Given the description of an element on the screen output the (x, y) to click on. 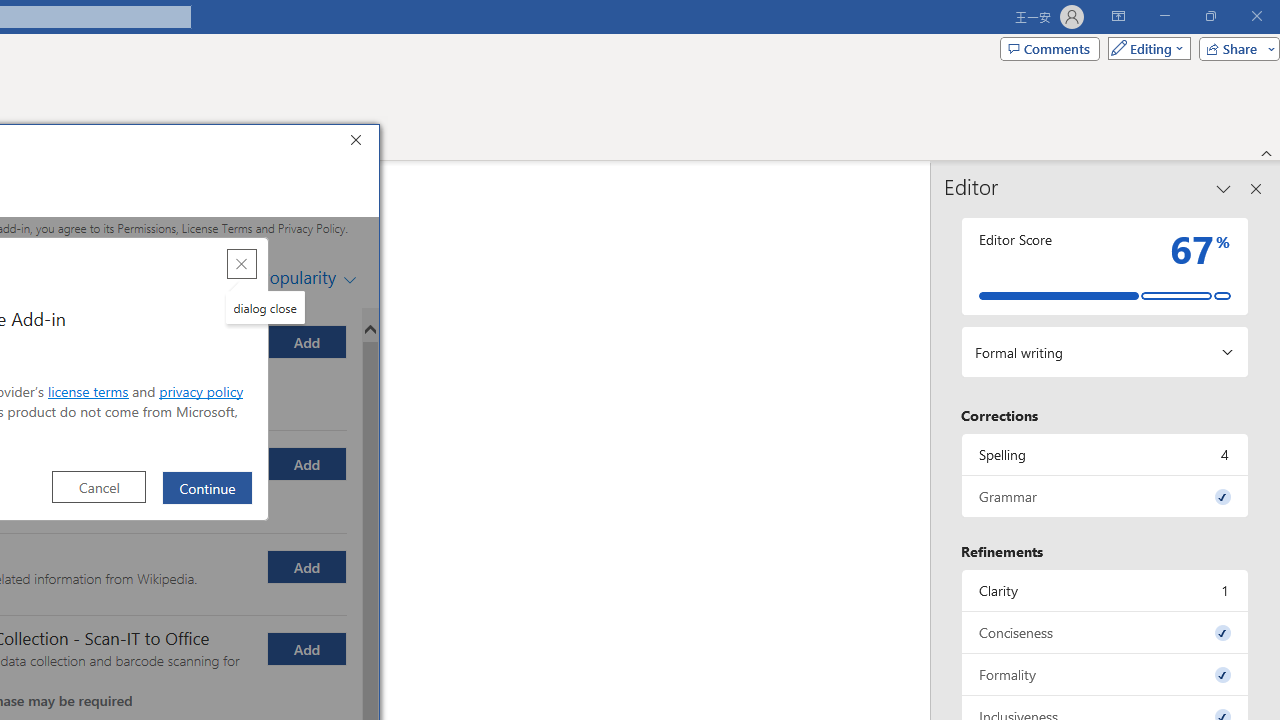
Grammar, 0 issues. Press space or enter to review items. (1105, 495)
Conciseness, 0 issues. Press space or enter to review items. (1105, 632)
Clarity, 1 issue. Press space or enter to review items. (1105, 590)
